Given the description of an element on the screen output the (x, y) to click on. 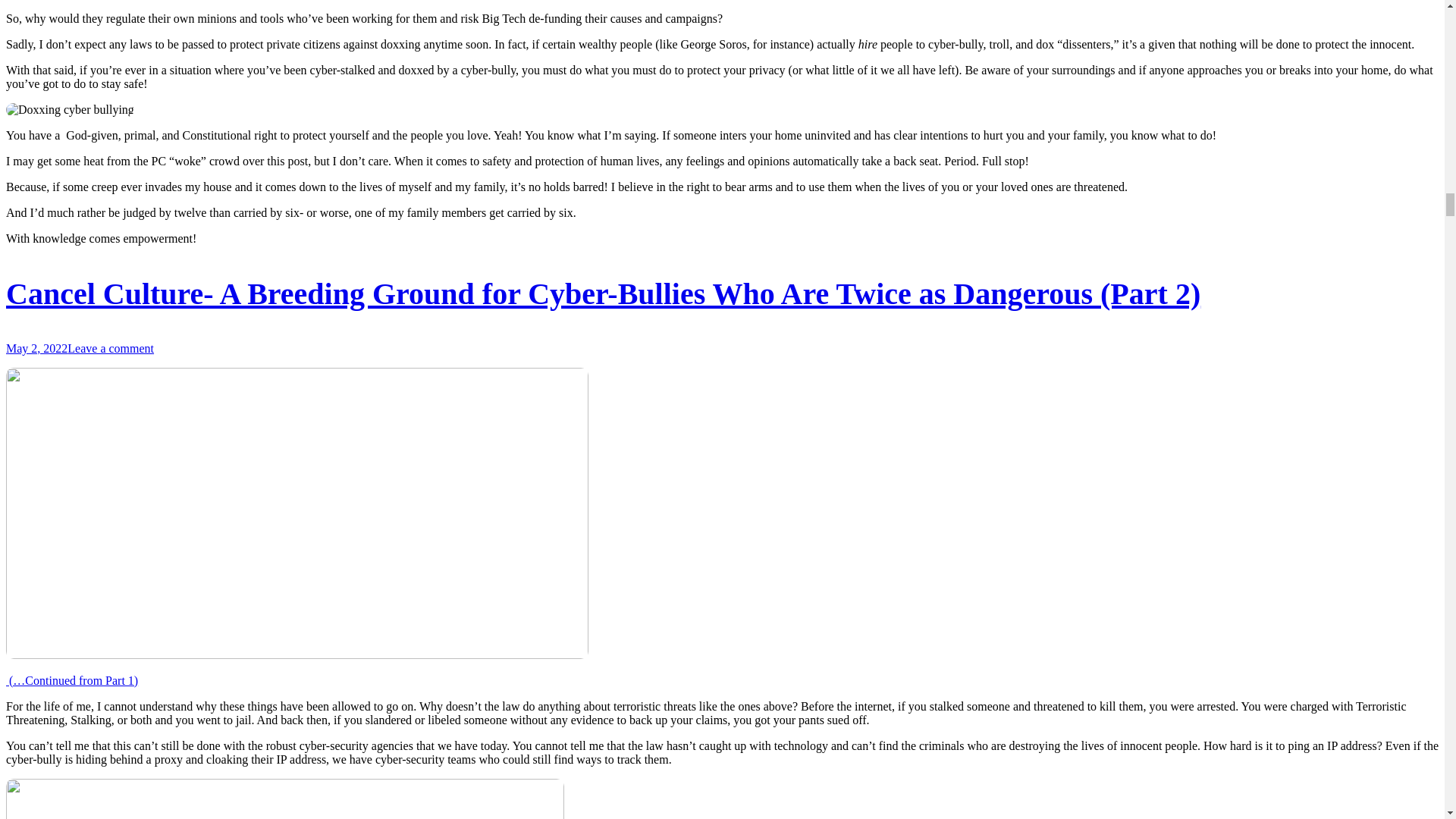
May 2, 2022 (35, 348)
Leave a comment (110, 348)
